Given the description of an element on the screen output the (x, y) to click on. 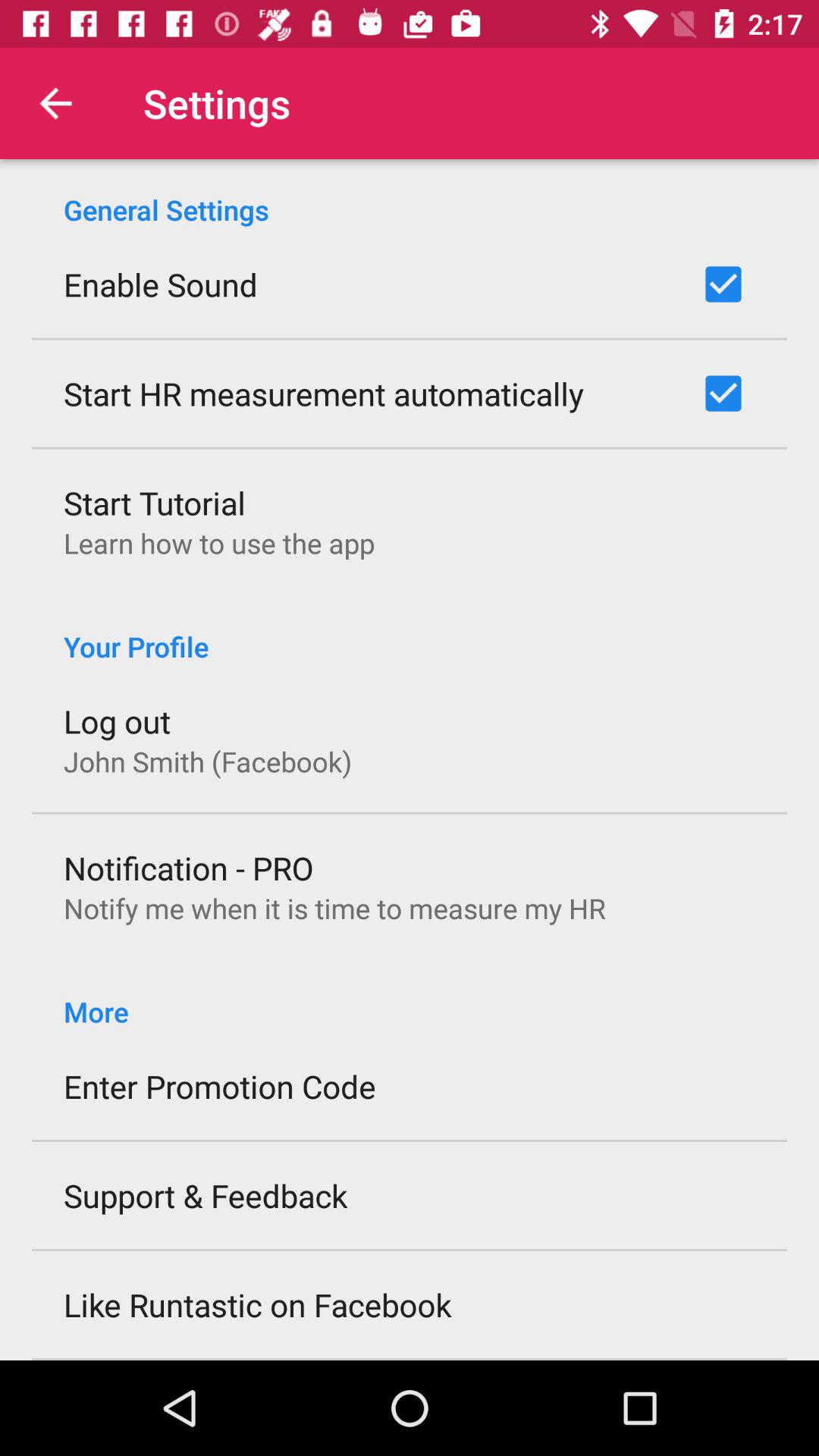
select the icon below enter promotion code icon (205, 1195)
